Given the description of an element on the screen output the (x, y) to click on. 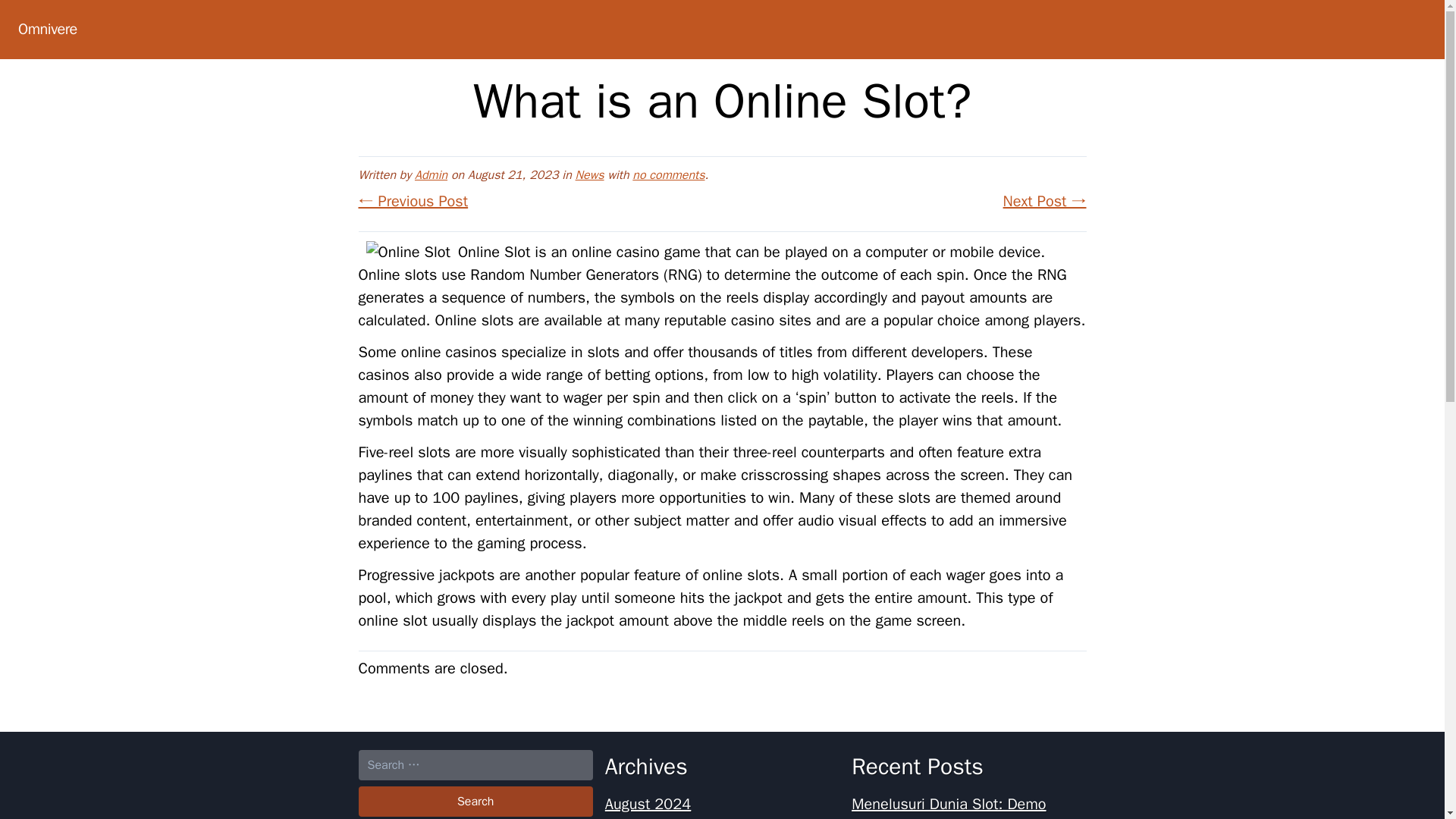
no comments (667, 174)
Search (475, 801)
Search (475, 801)
July 2024 (637, 818)
News (589, 174)
Admin (430, 174)
no comments (667, 174)
Search (475, 801)
Omnivere (47, 29)
